Given the description of an element on the screen output the (x, y) to click on. 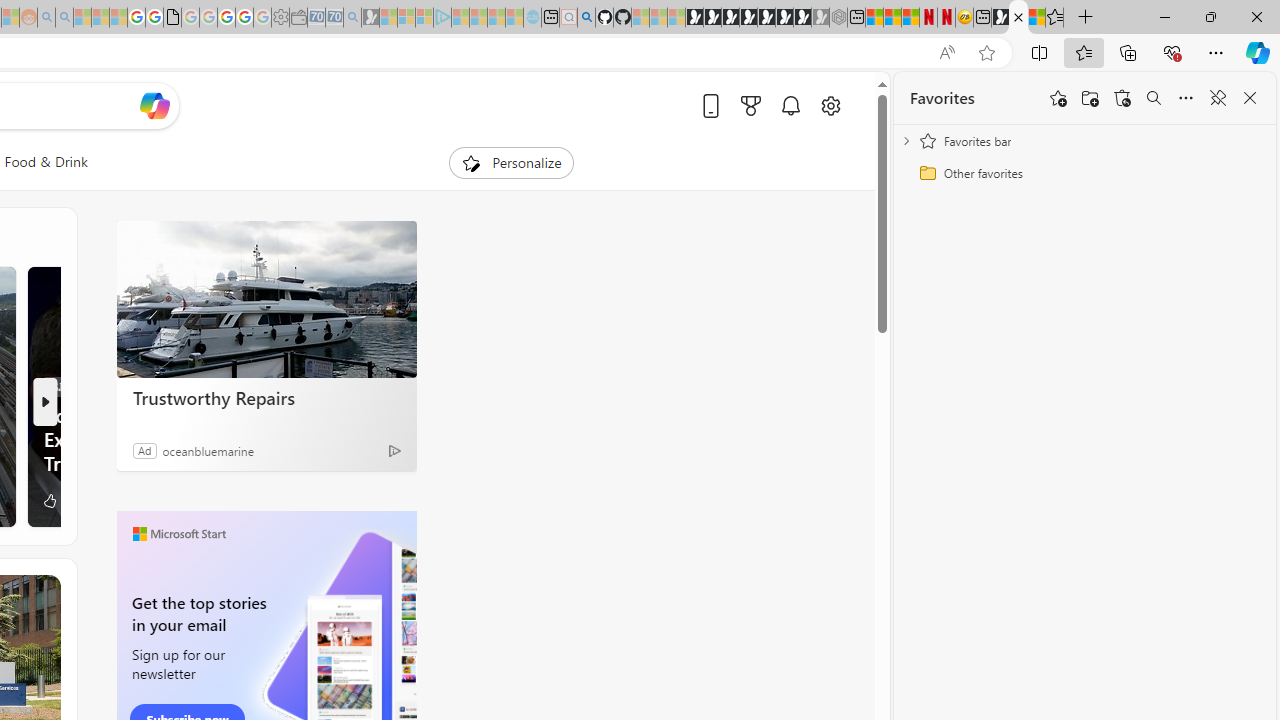
Trustworthy Repairs (266, 397)
Unpin favorites (1217, 98)
